Given the description of an element on the screen output the (x, y) to click on. 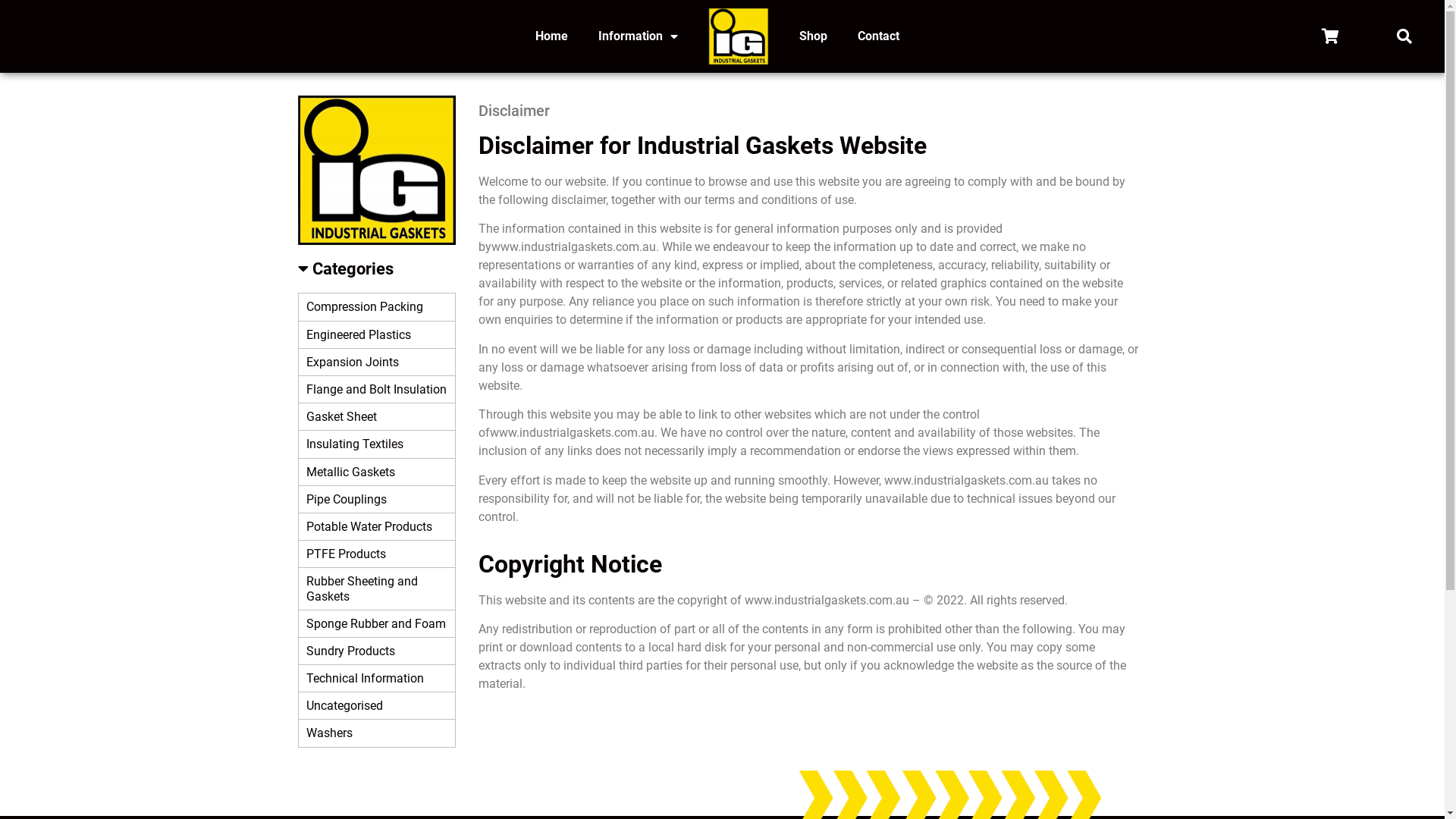
Technical Information Element type: text (376, 678)
Information Element type: text (638, 35)
Contact Element type: text (878, 35)
PTFE Products Element type: text (376, 553)
Flange and Bolt Insulation Element type: text (376, 389)
Pipe Couplings Element type: text (376, 499)
Expansion Joints Element type: text (376, 362)
Compression Packing Element type: text (376, 306)
Sponge Rubber and Foam Element type: text (376, 623)
Metallic Gaskets Element type: text (376, 472)
Insulating Textiles Element type: text (376, 444)
Washers Element type: text (376, 732)
Shop Element type: text (813, 35)
Potable Water Products Element type: text (376, 526)
Gasket Sheet Element type: text (376, 416)
Uncategorised Element type: text (376, 705)
Sundry Products Element type: text (376, 651)
Rubber Sheeting and Gaskets Element type: text (376, 588)
Engineered Plastics Element type: text (376, 334)
Home Element type: text (551, 35)
